Given the description of an element on the screen output the (x, y) to click on. 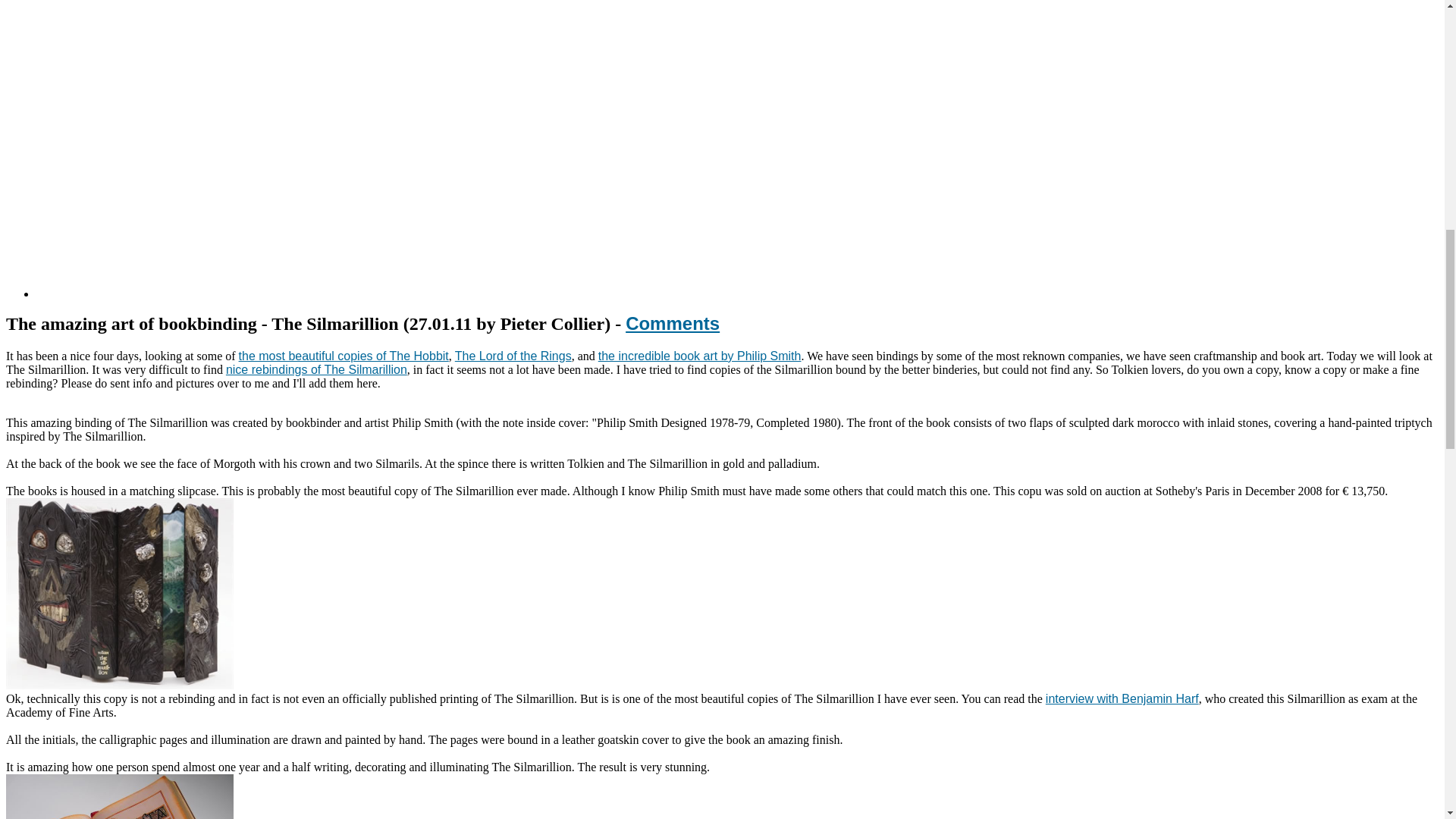
the most beautiful copies of The Hobbit (343, 355)
the incredible book art by Philip Smith (700, 355)
nice rebindings of The Silmarillion (316, 369)
Comments (672, 322)
The Lord of the Rings (513, 355)
interview with Benjamin Harf (1121, 698)
